Given the description of an element on the screen output the (x, y) to click on. 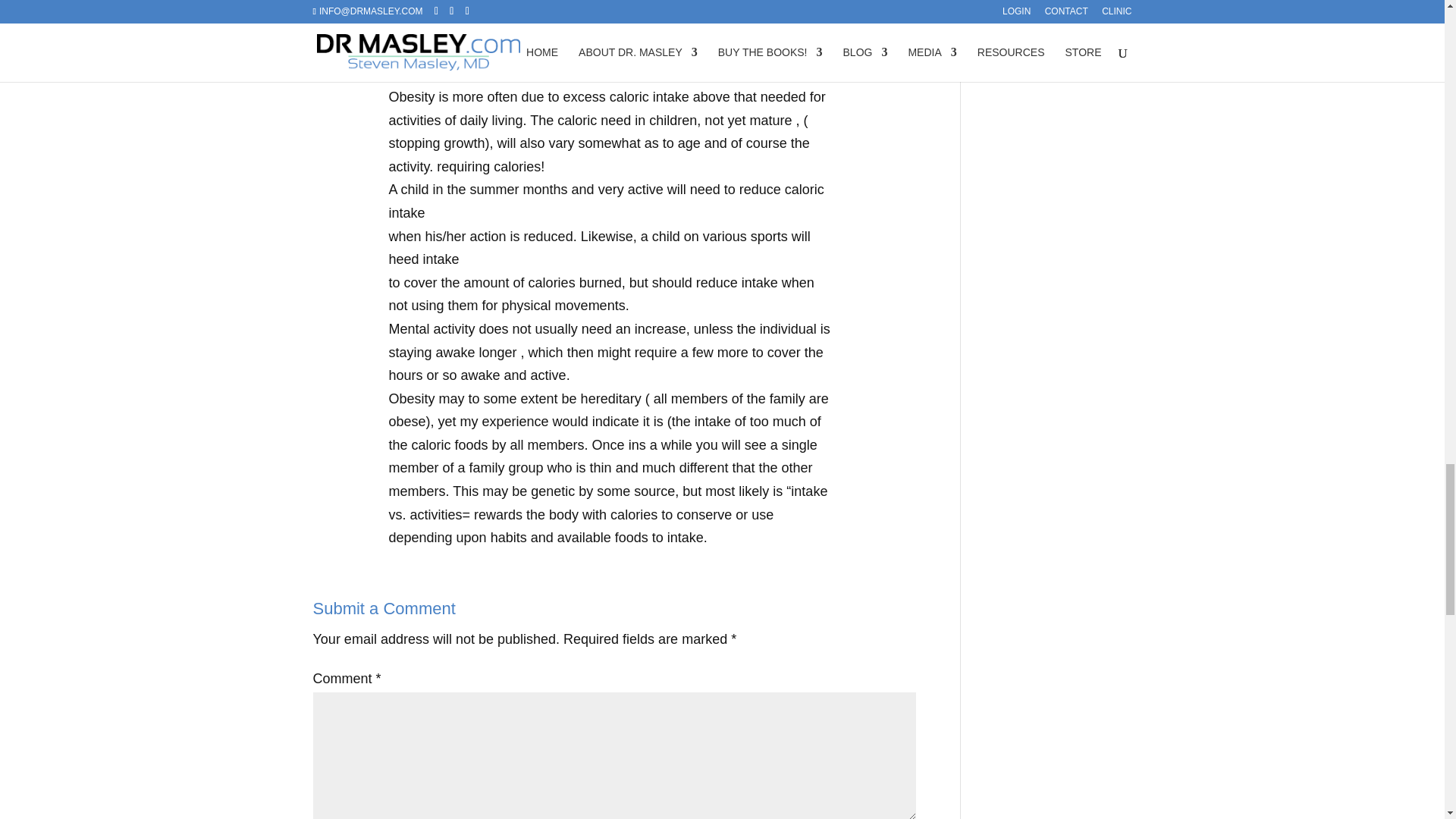
Reply (897, 72)
